Given the description of an element on the screen output the (x, y) to click on. 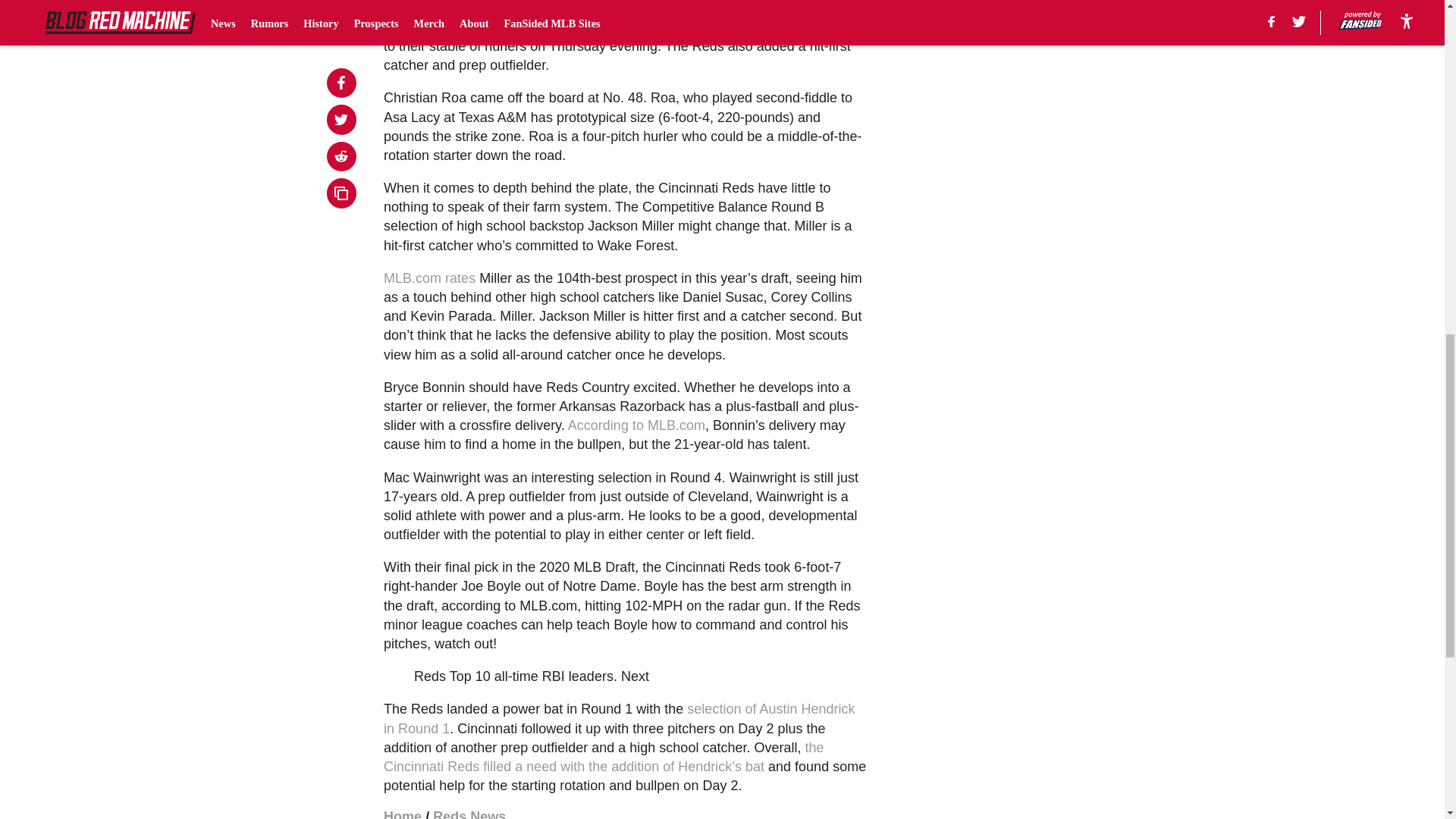
According to MLB.com (635, 425)
selection of Austin Hendrick in Round 1 (619, 718)
Reds News (468, 814)
Cincinnati Reds (623, 7)
MLB.com rates (430, 278)
Home (403, 814)
